Given the description of an element on the screen output the (x, y) to click on. 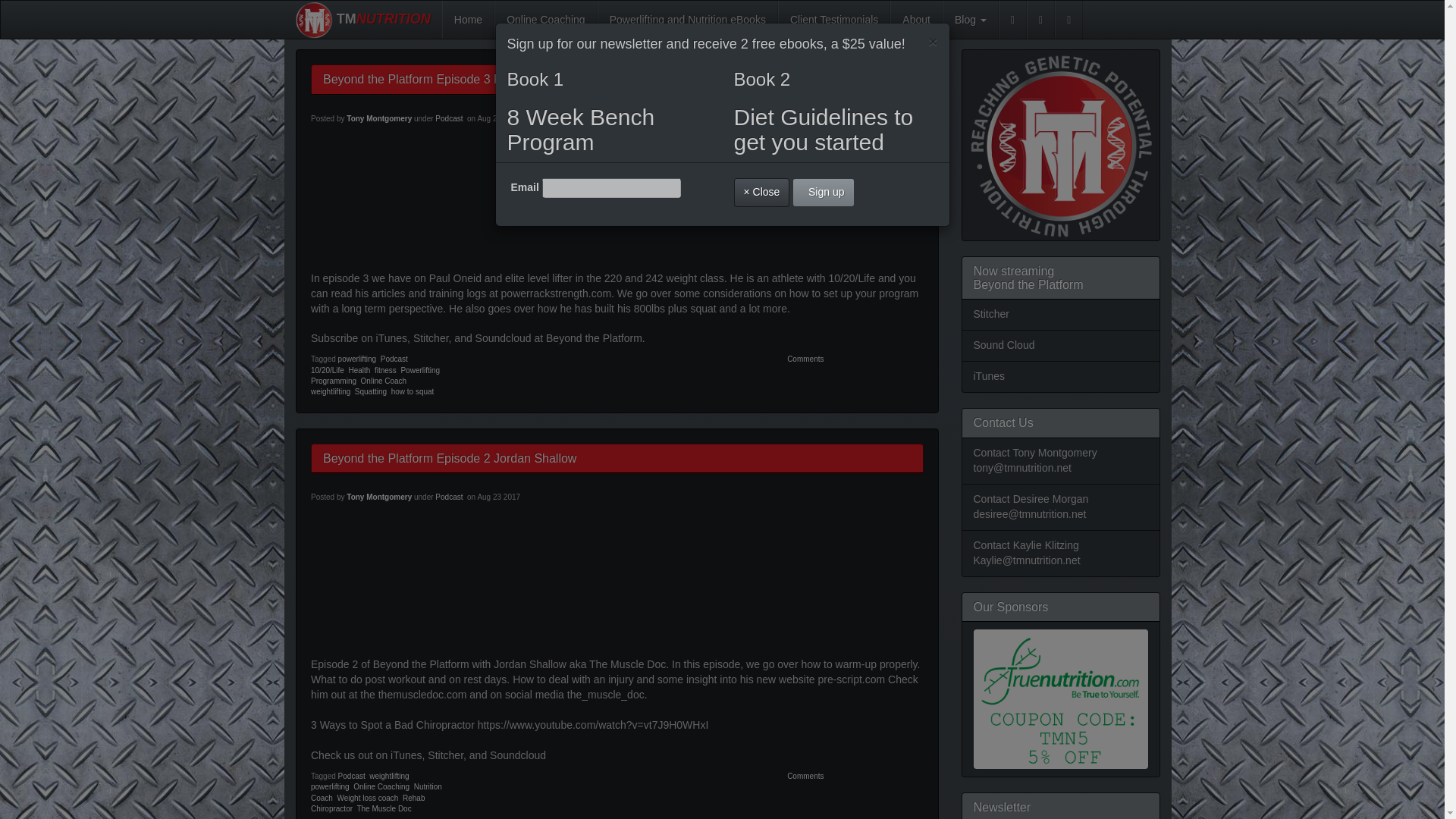
fitness (385, 370)
weightlifting (330, 391)
Podcast (393, 358)
Squatting (371, 391)
Client Testimonials (833, 19)
About (915, 19)
powerlifting (330, 786)
Home (468, 19)
Powerlifting Programming (375, 375)
Podcast (449, 497)
Beyond the Platform Episode 3 Paul Oneid (438, 78)
 TMNUTRITION (362, 18)
Podcast (351, 776)
Blog (970, 19)
Online Coach (384, 380)
